Given the description of an element on the screen output the (x, y) to click on. 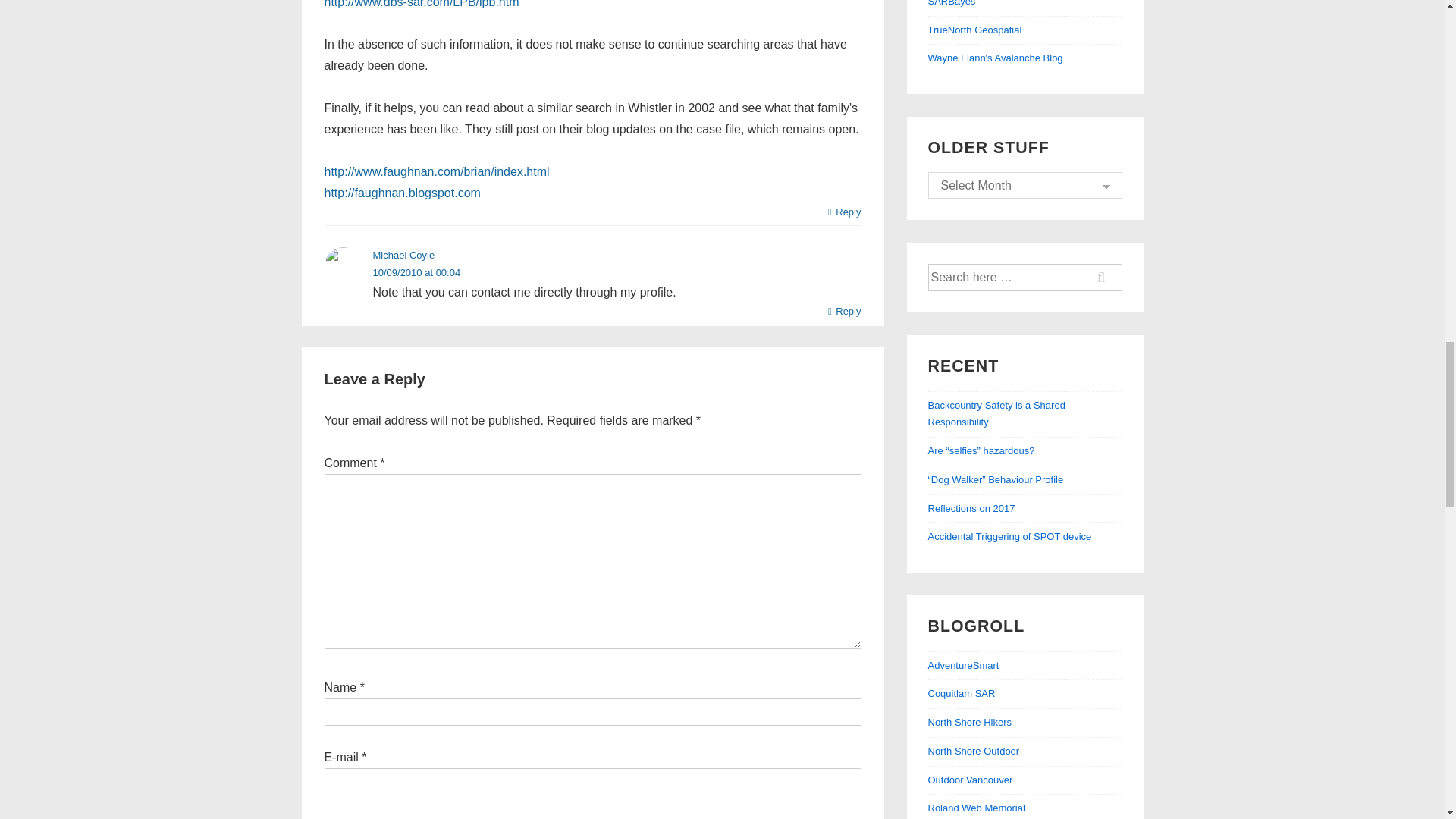
Dedicated to the memory of Roland Webb (976, 808)
Mapping software for backcountry professionals (975, 30)
